Given the description of an element on the screen output the (x, y) to click on. 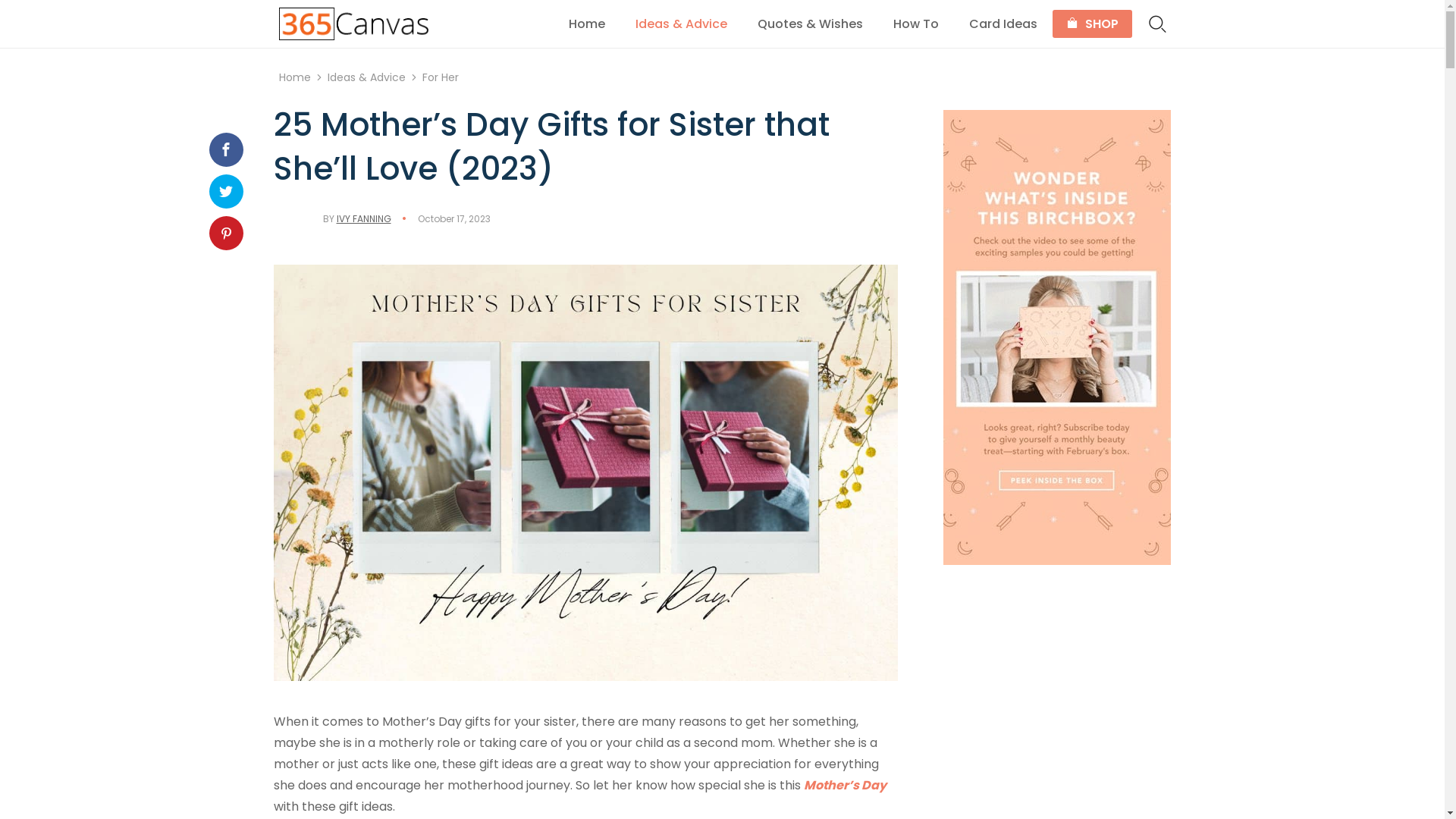
facebook Element type: text (226, 148)
For Her Element type: text (439, 76)
Ideas & Advice Element type: text (681, 23)
How To Element type: text (915, 23)
Home Element type: text (586, 23)
pinterest Element type: text (226, 232)
Ideas & Advice Element type: text (366, 76)
Quotes & Wishes Element type: text (809, 23)
SHOP Element type: text (1092, 23)
Card Ideas Element type: text (1002, 23)
Home Element type: text (294, 76)
twitter Element type: text (226, 191)
